Given the description of an element on the screen output the (x, y) to click on. 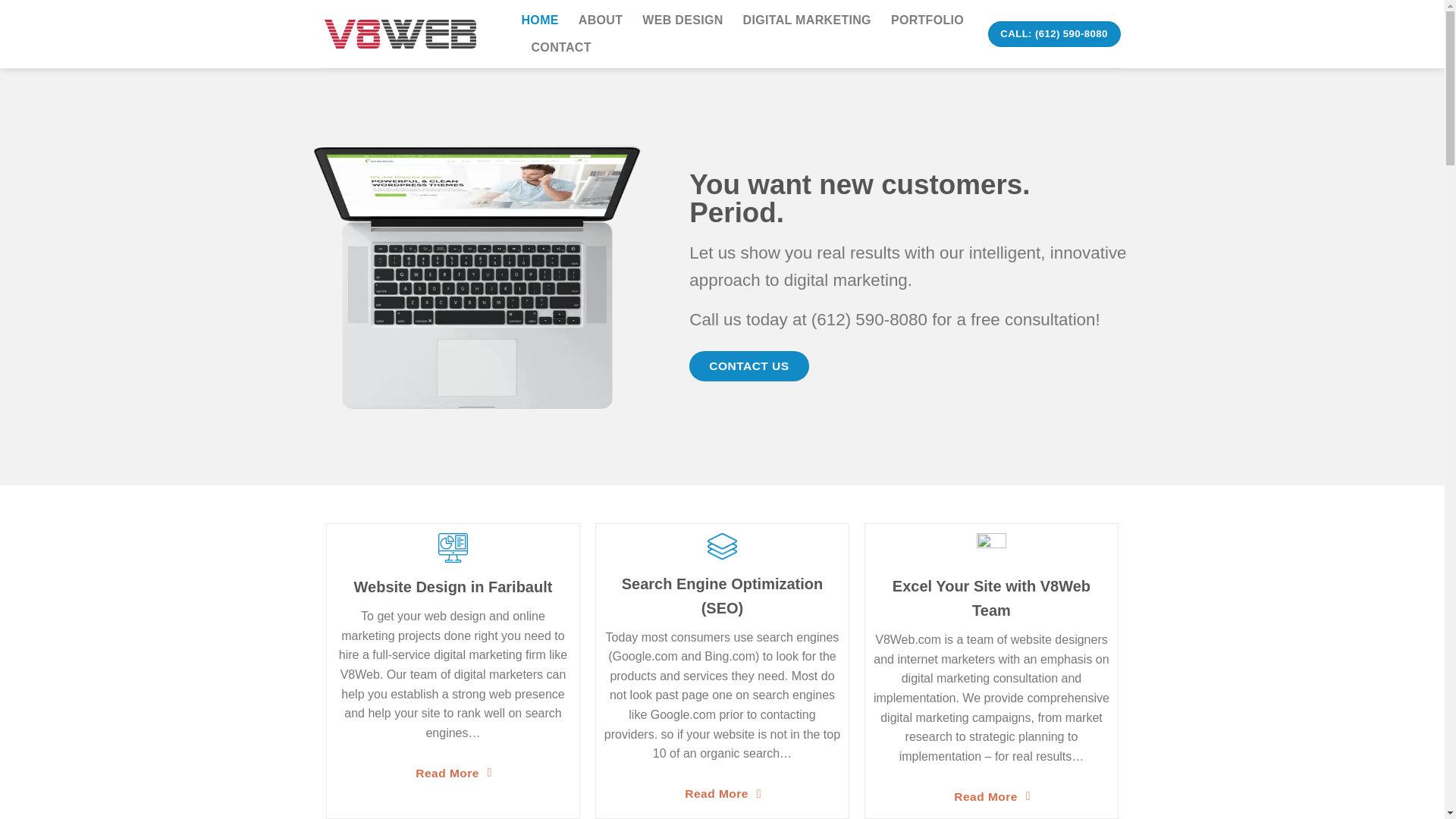
Read More (453, 772)
CONTACT US (748, 365)
ABOUT (600, 20)
Read More (721, 793)
HOME (540, 20)
WEB DESIGN (682, 20)
DIGITAL MARKETING (806, 20)
PORTFOLIO (927, 20)
CONTACT (561, 47)
Read More (991, 796)
Faribault Website Design, Minnesota (400, 33)
